Given the description of an element on the screen output the (x, y) to click on. 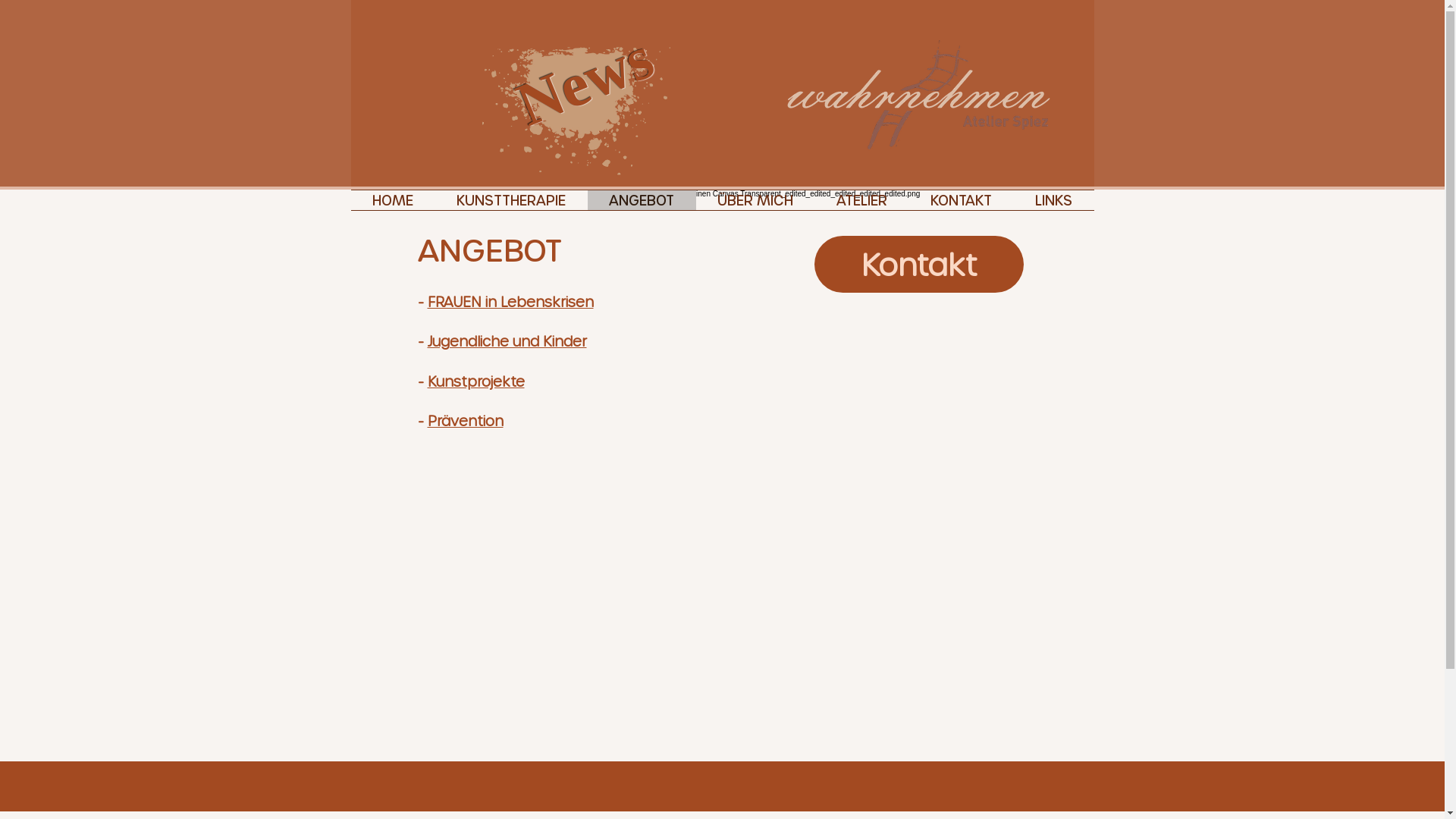
KUNSTTHERAPIE Element type: text (511, 200)
News Element type: text (576, 56)
LINKS Element type: text (1053, 200)
HOME Element type: text (392, 200)
Kunstprojekte Element type: text (475, 381)
ATELIER Element type: text (861, 200)
FRAUEN in Lebenskrisen Element type: text (510, 301)
Jugendliche und Kinder Element type: text (506, 340)
ANGEBOT Element type: text (640, 200)
Kontakt Element type: text (918, 263)
KONTAKT Element type: text (960, 200)
